Given the description of an element on the screen output the (x, y) to click on. 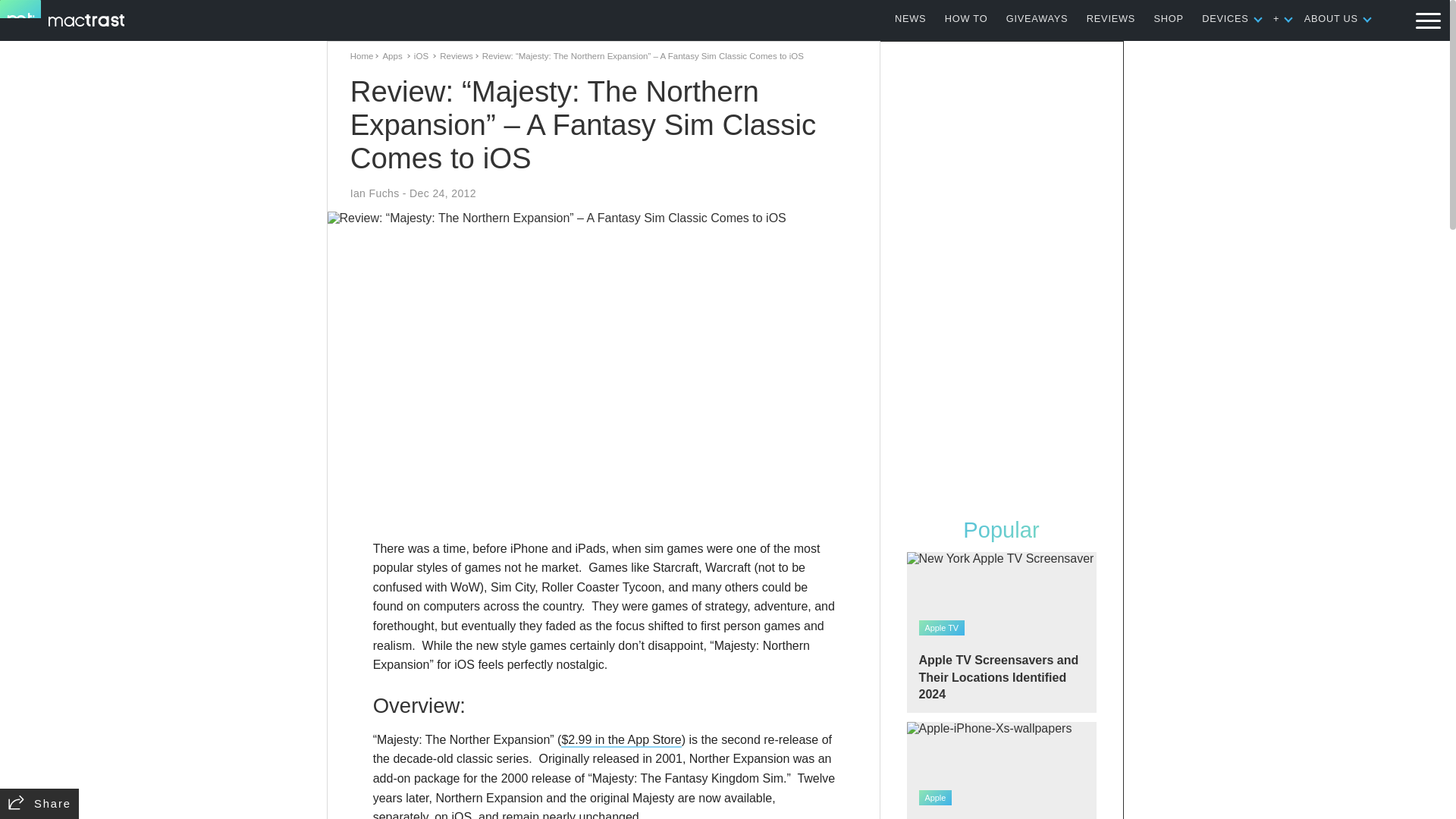
Majesty Northern Expansion (620, 740)
SHOP (1168, 18)
ABOUT US (1331, 18)
NEWS (910, 18)
Posts by Ian Fuchs (374, 193)
REVIEWS (1110, 18)
GIVEAWAYS (1037, 18)
DEVICES (1224, 18)
HOW TO (966, 18)
